Given the description of an element on the screen output the (x, y) to click on. 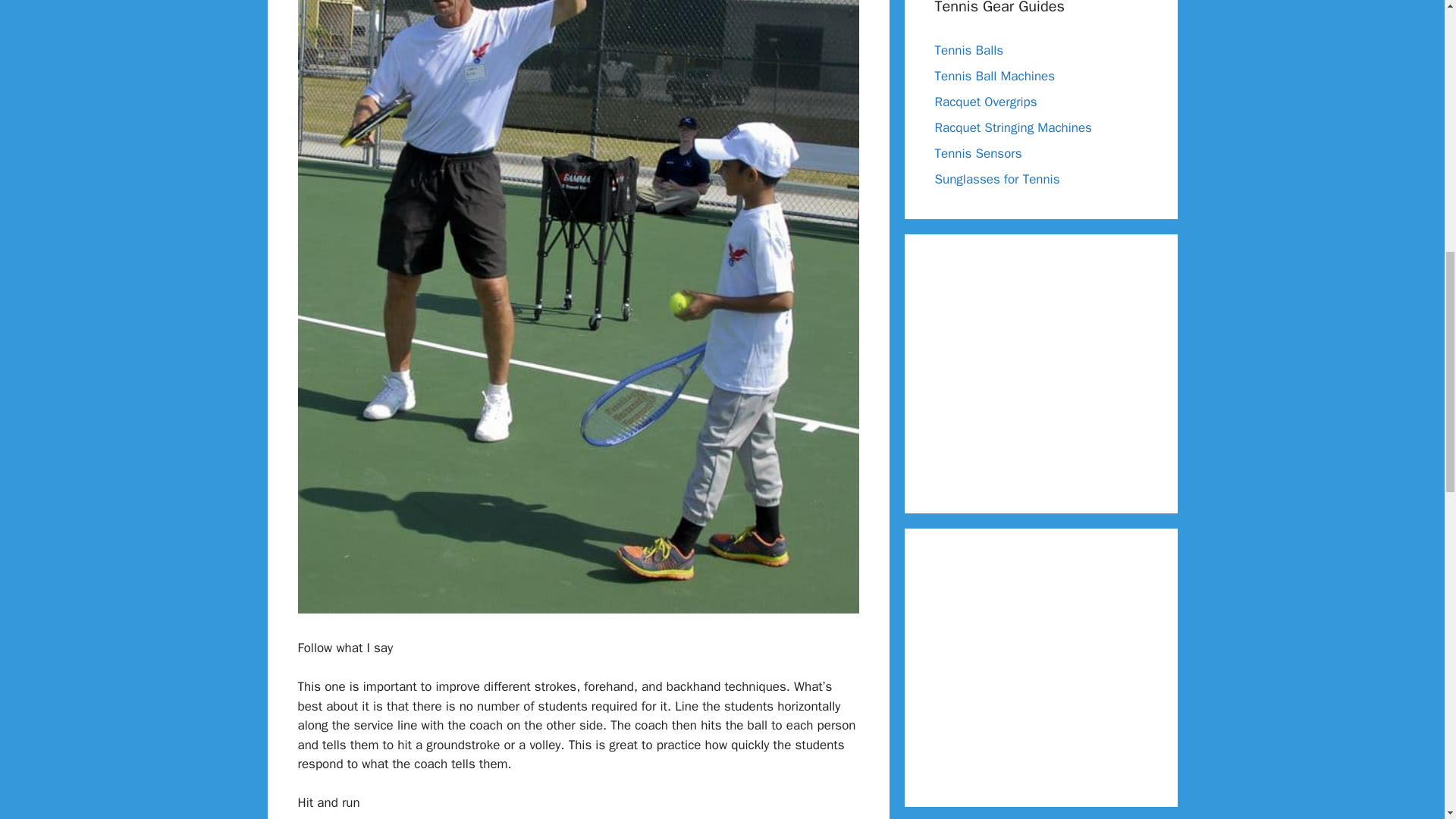
Racquet Stringing Machines (1012, 127)
Racquet Overgrips (985, 101)
Tennis Balls (968, 50)
Tennis Sensors (978, 153)
Sunglasses for Tennis (996, 179)
Tennis Ball Machines (994, 75)
